Given the description of an element on the screen output the (x, y) to click on. 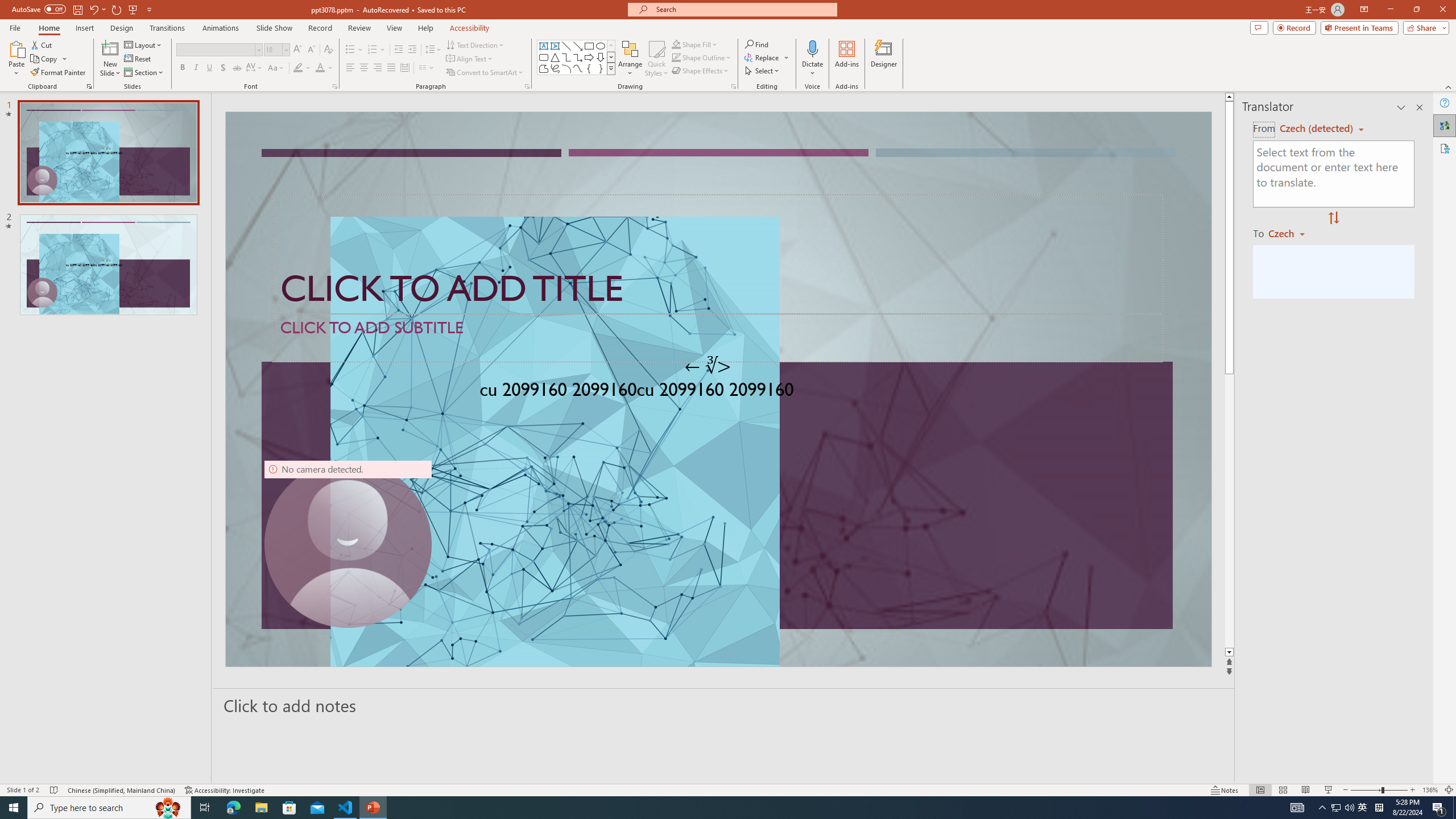
Shape Outline Green, Accent 1 (675, 56)
Swap "from" and "to" languages. (1333, 218)
Subtitle TextBox (717, 337)
